Given the description of an element on the screen output the (x, y) to click on. 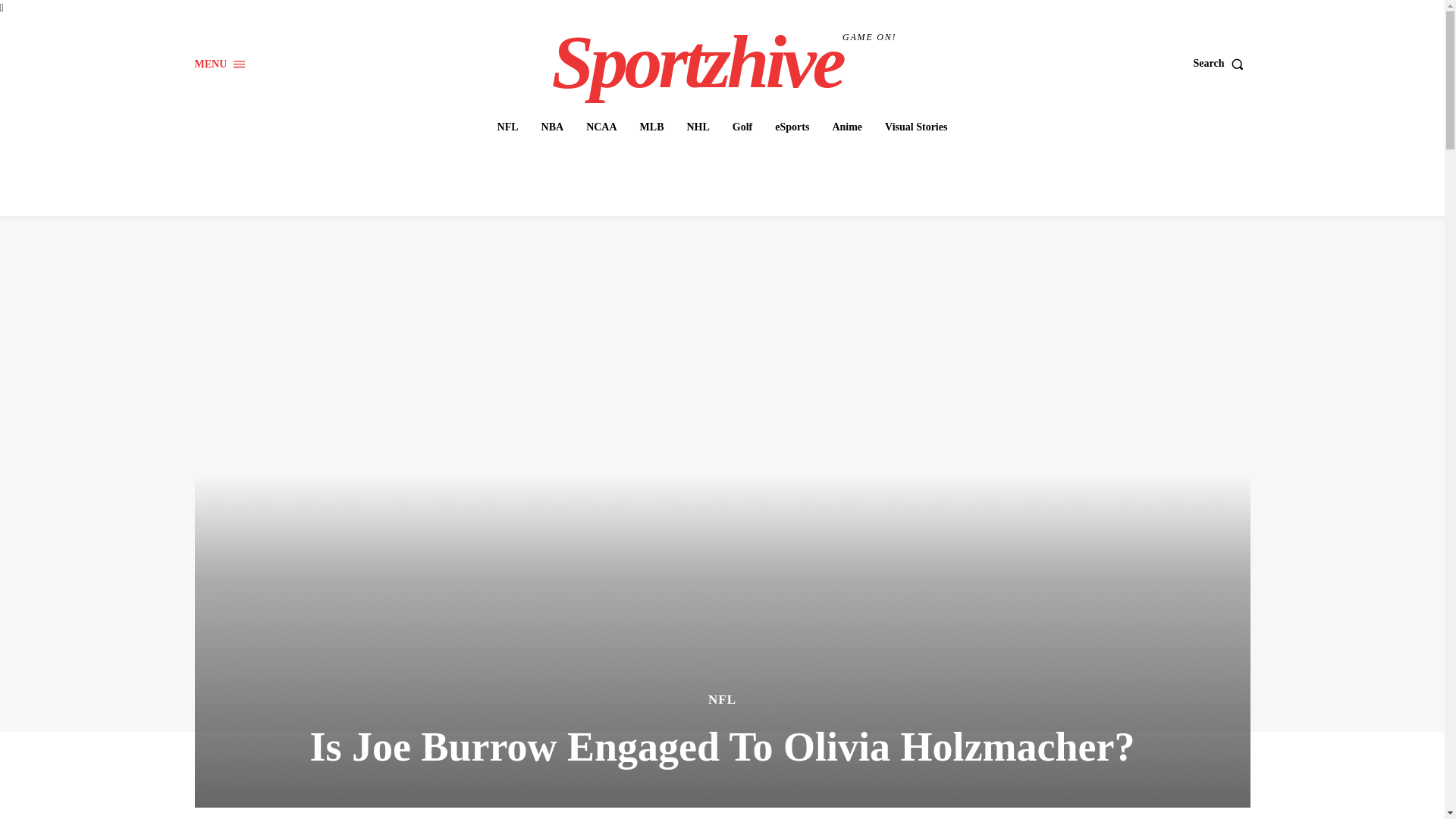
Search (1221, 63)
Golf (742, 127)
MLB (651, 127)
NCAA (601, 127)
NFL (507, 127)
MENU (219, 63)
NHL (697, 127)
NBA (553, 127)
Menu (219, 63)
eSports (791, 127)
